Given the description of an element on the screen output the (x, y) to click on. 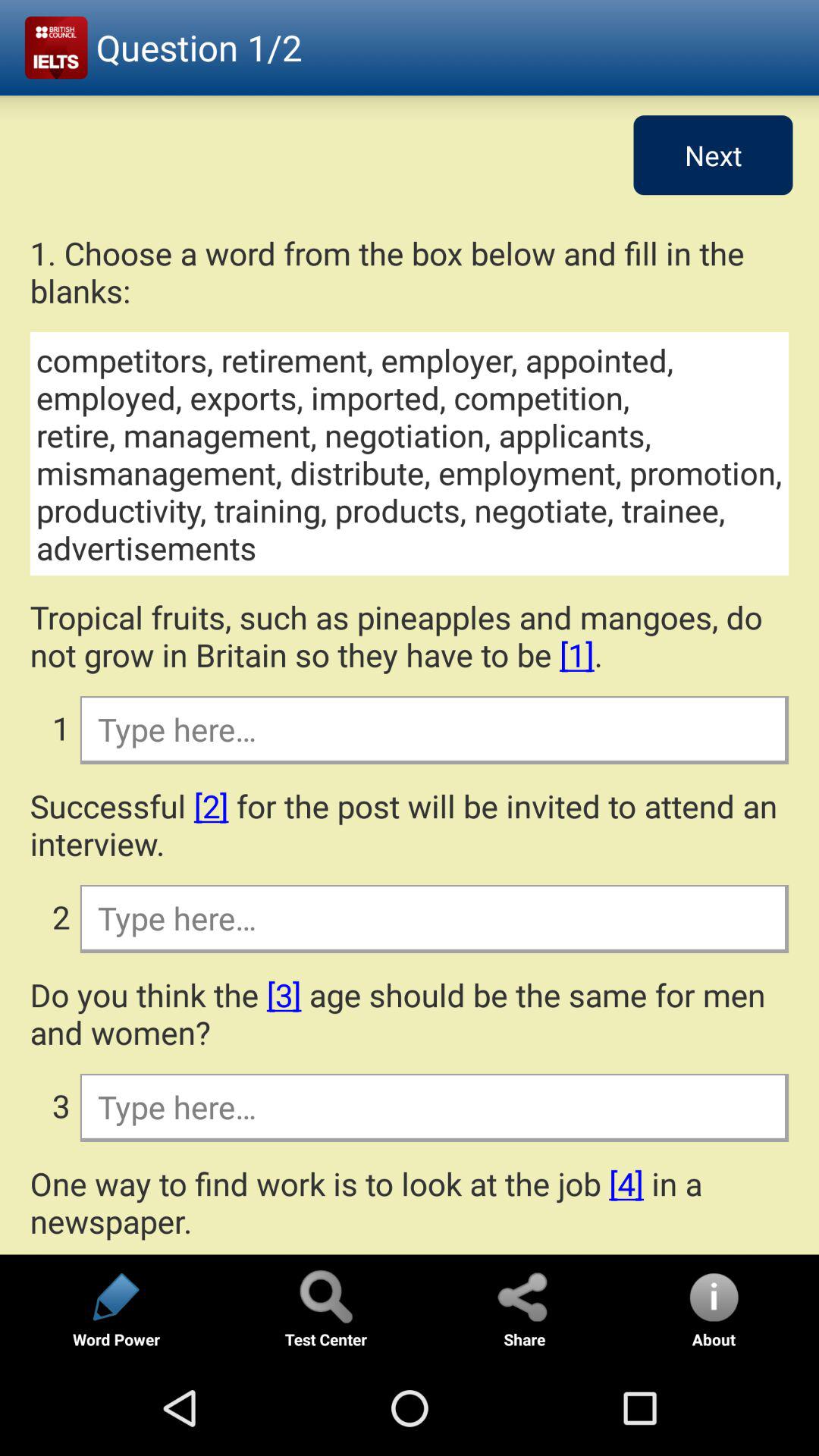
jump until successful 2 for item (409, 824)
